Given the description of an element on the screen output the (x, y) to click on. 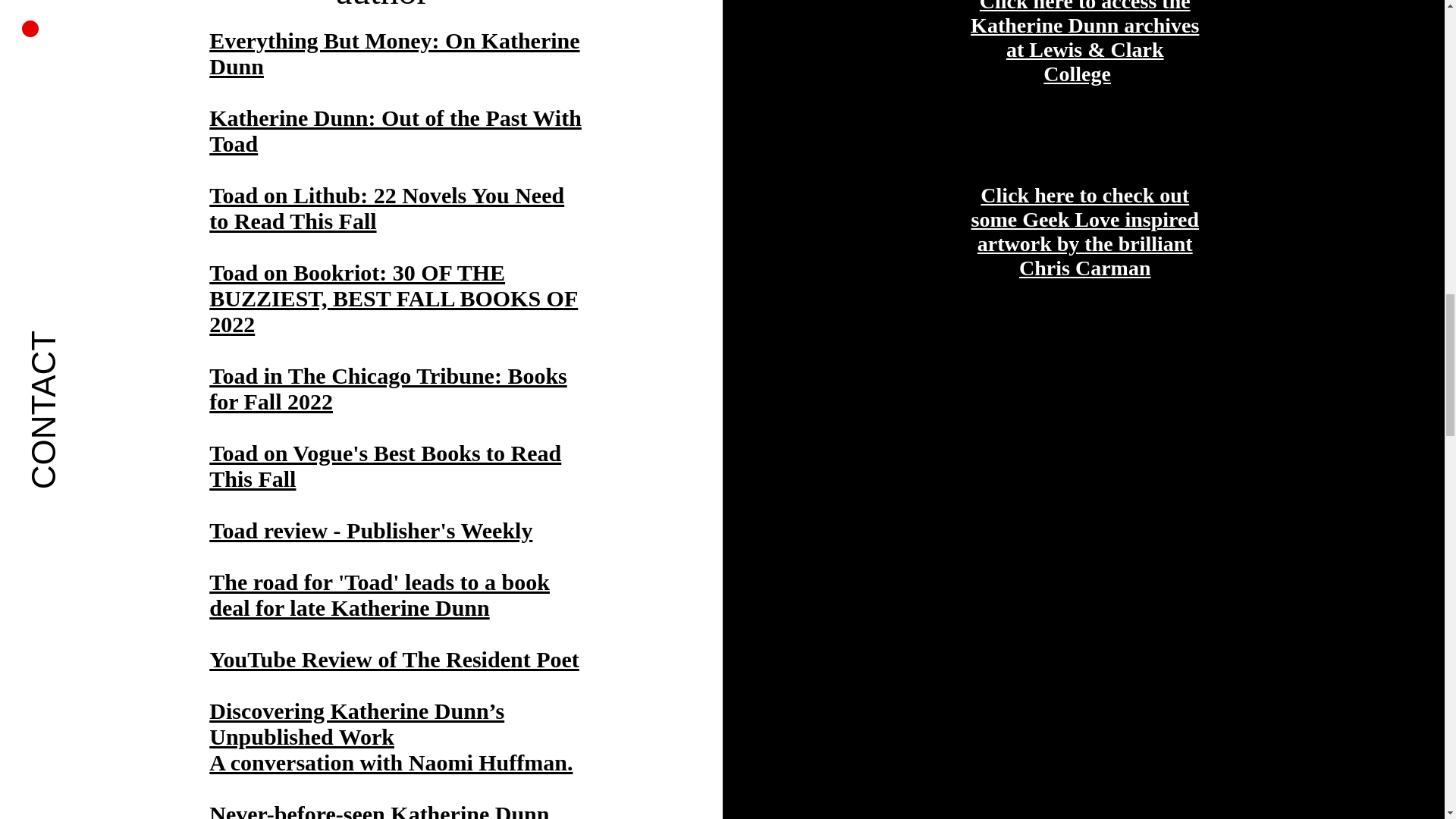
Toad review - Publisher's Weekly (370, 529)
Katherine Dunn: Out of the Past With Toad (394, 130)
Toad on Lithub: 22 Novels You Need to Read This Fall (386, 207)
Toad in The Chicago Tribune: Books for Fall 2022 (388, 388)
Toad on Vogue's Best Books to Read This Fall (384, 465)
YouTube Review of The Resident Poet (394, 659)
Everything But Money: On Katherine Dunn (394, 52)
